Given the description of an element on the screen output the (x, y) to click on. 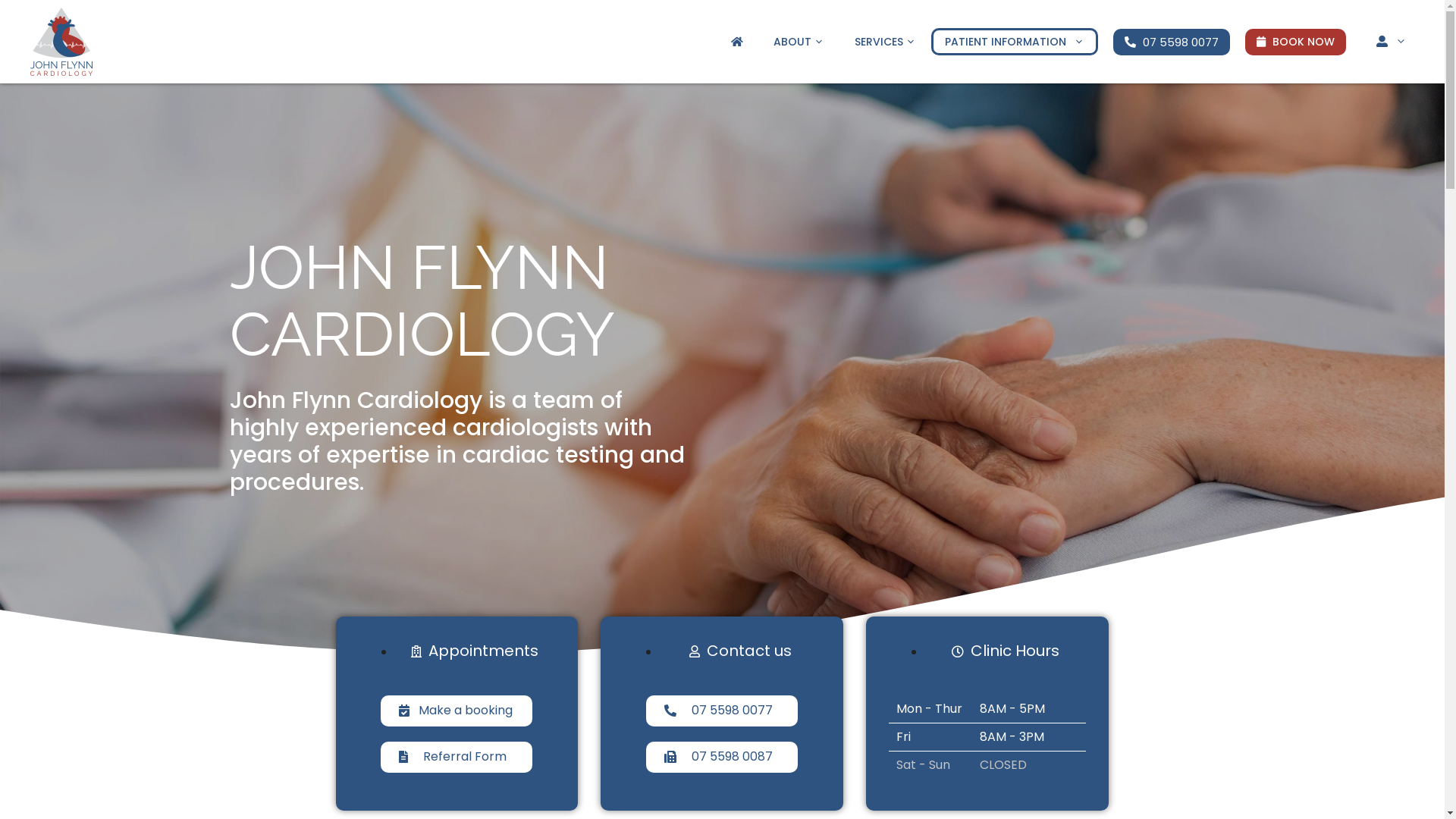
SERVICES Element type: text (885, 41)
John Flynn Cardiology Element type: hover (61, 41)
BOOK NOW Element type: text (1295, 41)
07 5598 0087 Element type: text (721, 756)
Referral Form Element type: text (456, 756)
PATIENT INFORMATION Element type: text (1014, 41)
07 5598 0077 Element type: text (1171, 41)
Make a booking Element type: text (456, 710)
ABOUT Element type: text (798, 41)
07 5598 0077 Element type: text (721, 710)
